Given the description of an element on the screen output the (x, y) to click on. 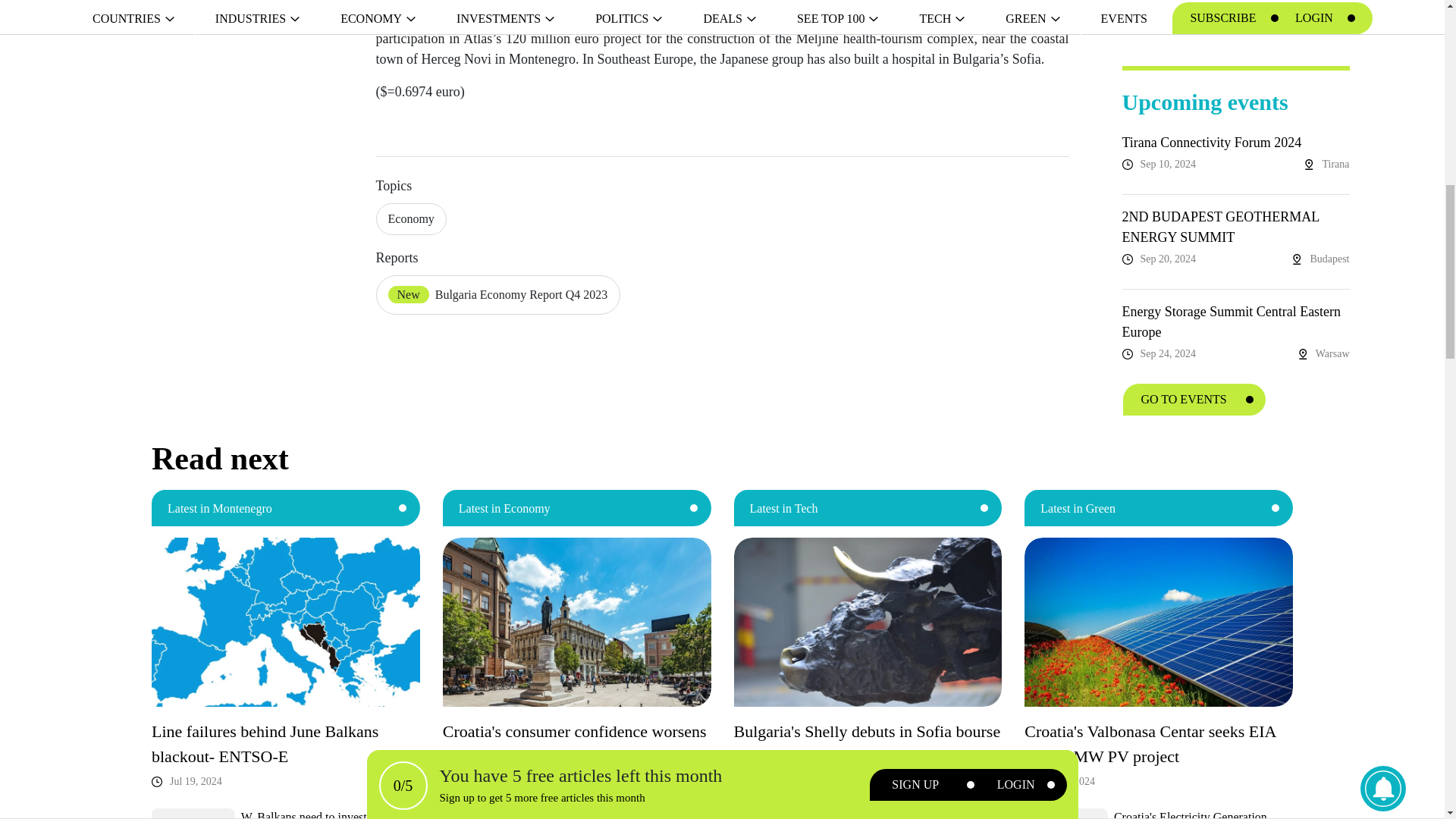
3rd party ad content (1235, 18)
1260765 (192, 813)
1260794 (483, 813)
1260781 (774, 813)
